Given the description of an element on the screen output the (x, y) to click on. 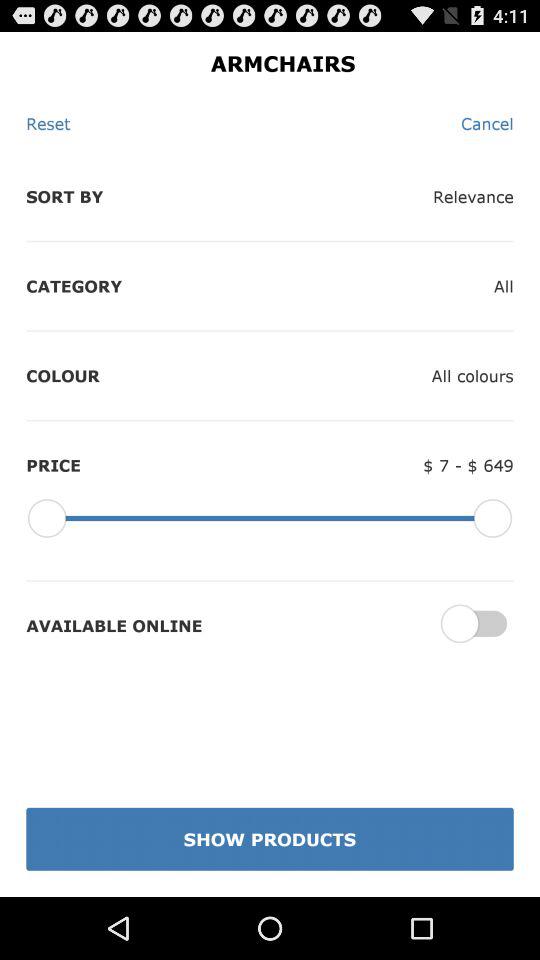
click on text right to reset (487, 123)
select the options sort by and category (106, 234)
click on cancel button at top right (487, 123)
click on the icon show products (269, 839)
